Given the description of an element on the screen output the (x, y) to click on. 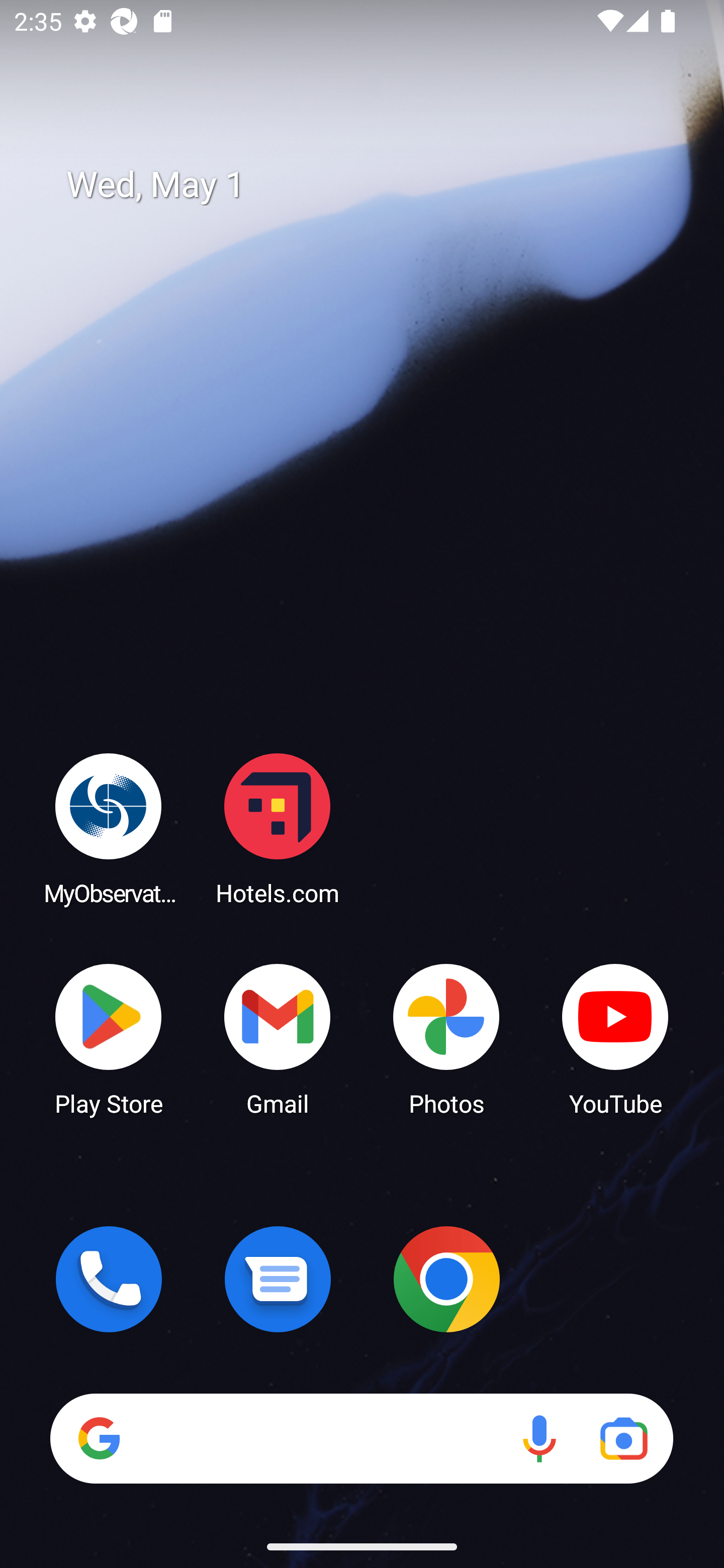
Wed, May 1 (375, 184)
MyObservatory (108, 828)
Hotels.com (277, 828)
Play Store (108, 1038)
Gmail (277, 1038)
Photos (445, 1038)
YouTube (615, 1038)
Phone (108, 1279)
Messages (277, 1279)
Chrome (446, 1279)
Search Voice search Google Lens (361, 1438)
Voice search (539, 1438)
Google Lens (623, 1438)
